Given the description of an element on the screen output the (x, y) to click on. 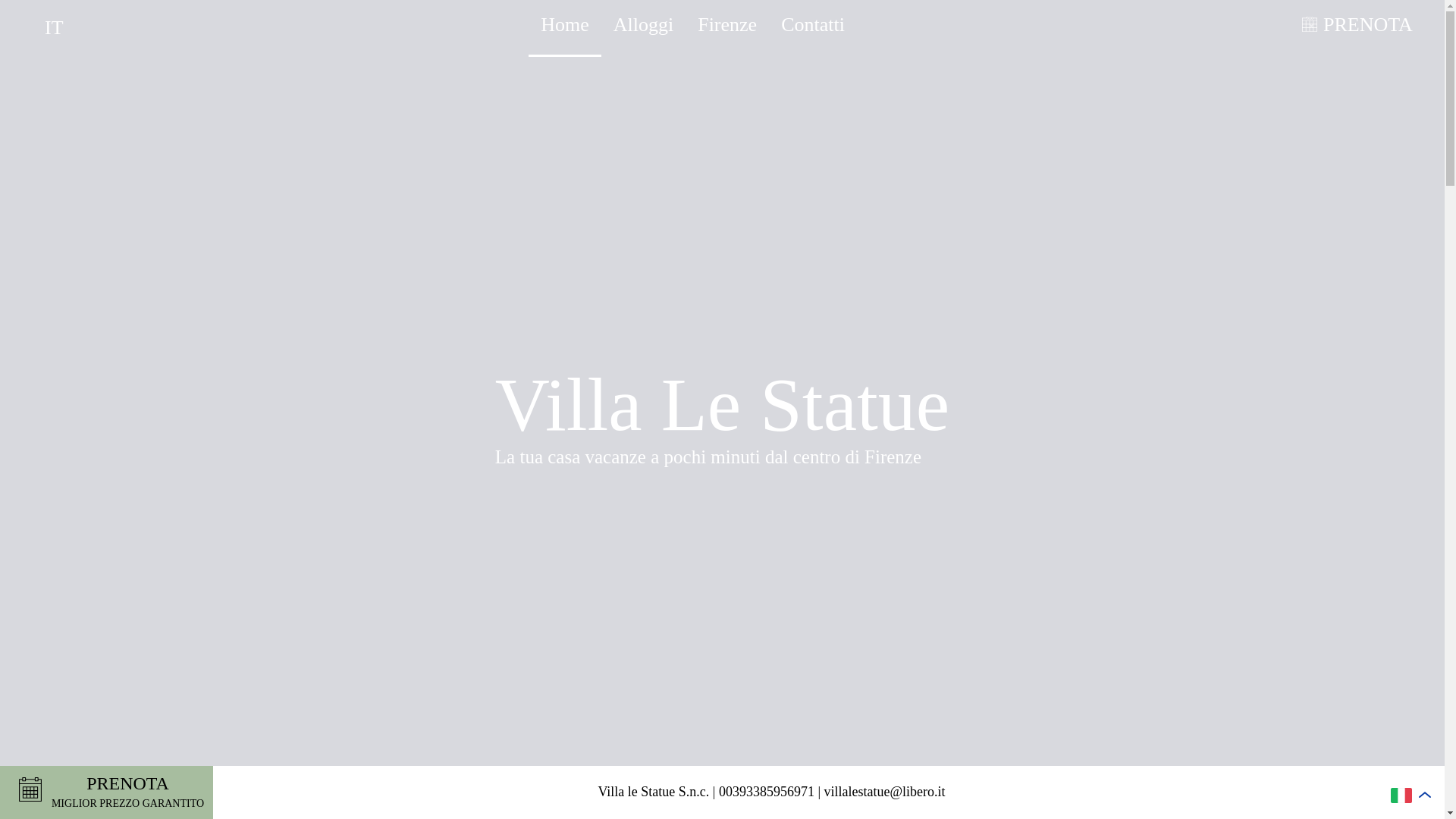
PRENOTA (1364, 24)
Home (564, 24)
Alloggi (642, 24)
IT (54, 28)
00393385956971 (106, 792)
Contatti (766, 791)
Firenze (812, 24)
